Given the description of an element on the screen output the (x, y) to click on. 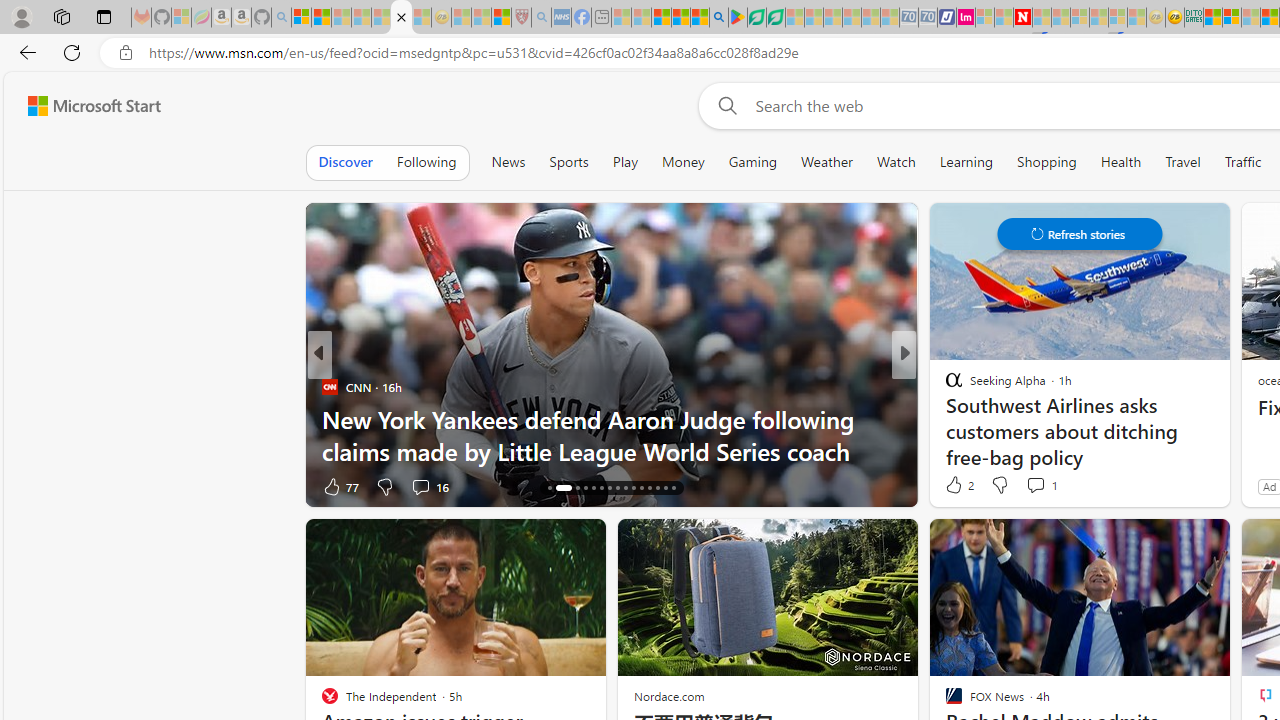
25 Like (956, 486)
Latest Politics News & Archive | Newsweek.com (1022, 17)
